Given the description of an element on the screen output the (x, y) to click on. 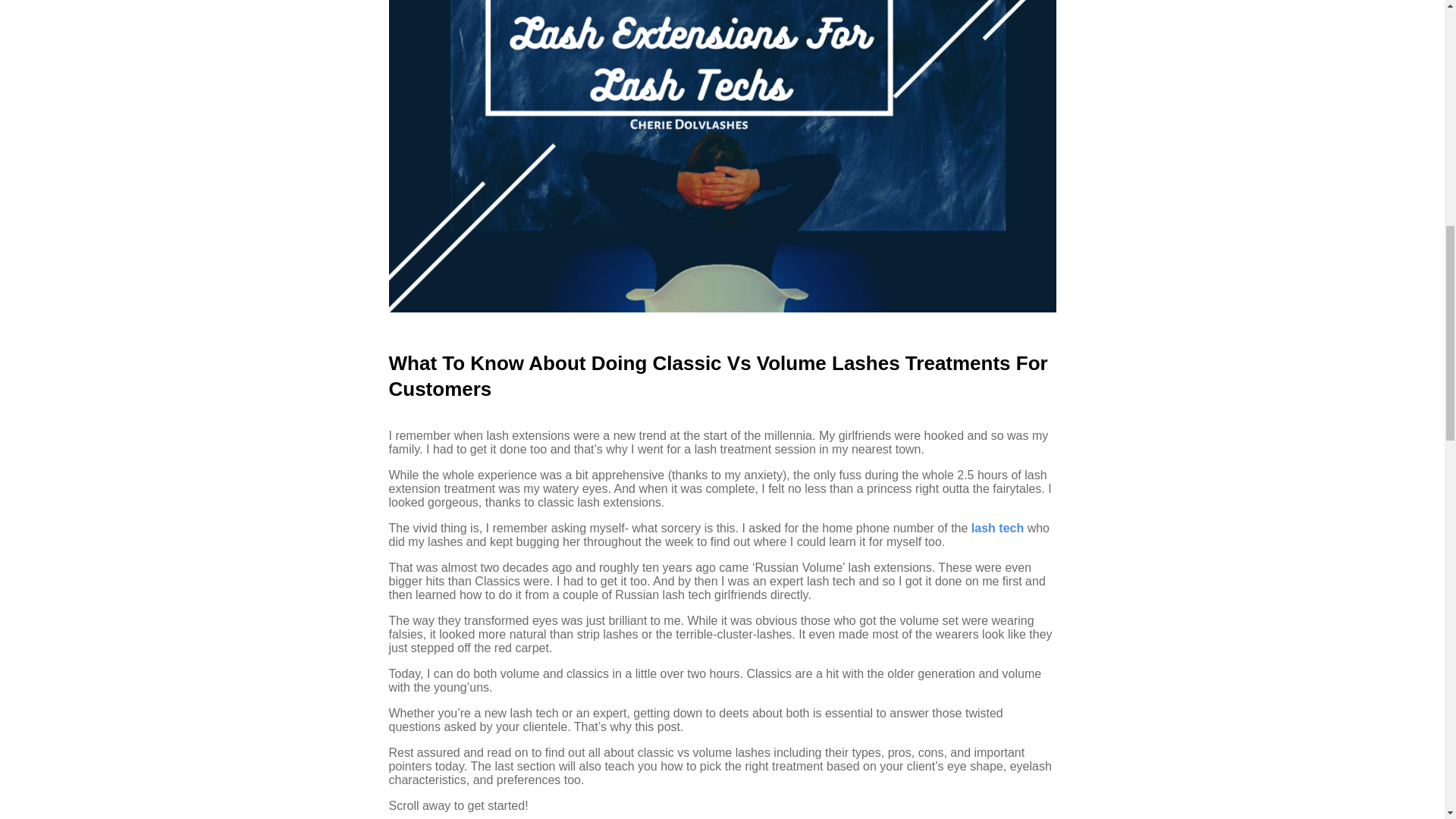
lash tech (997, 527)
